Given the description of an element on the screen output the (x, y) to click on. 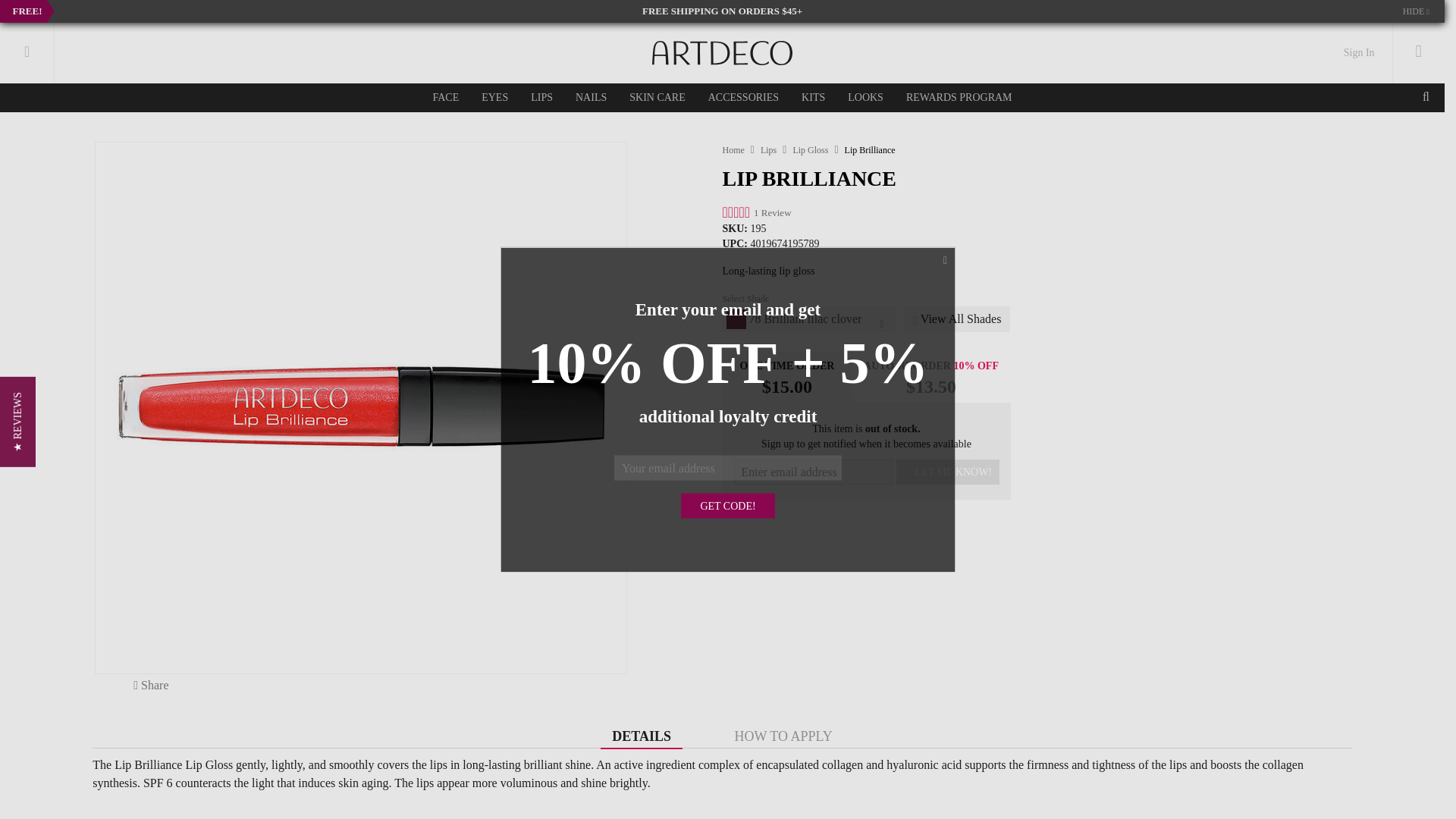
EYES (494, 97)
FACE (445, 97)
NAILS (590, 97)
SKIN CARE (656, 97)
KITS (812, 97)
LIPS (541, 97)
ACCESSORIES (743, 97)
REWARDS PROGRAM (959, 97)
Let me know! (947, 471)
LOOKS (865, 97)
Sign In (1358, 52)
